Given the description of an element on the screen output the (x, y) to click on. 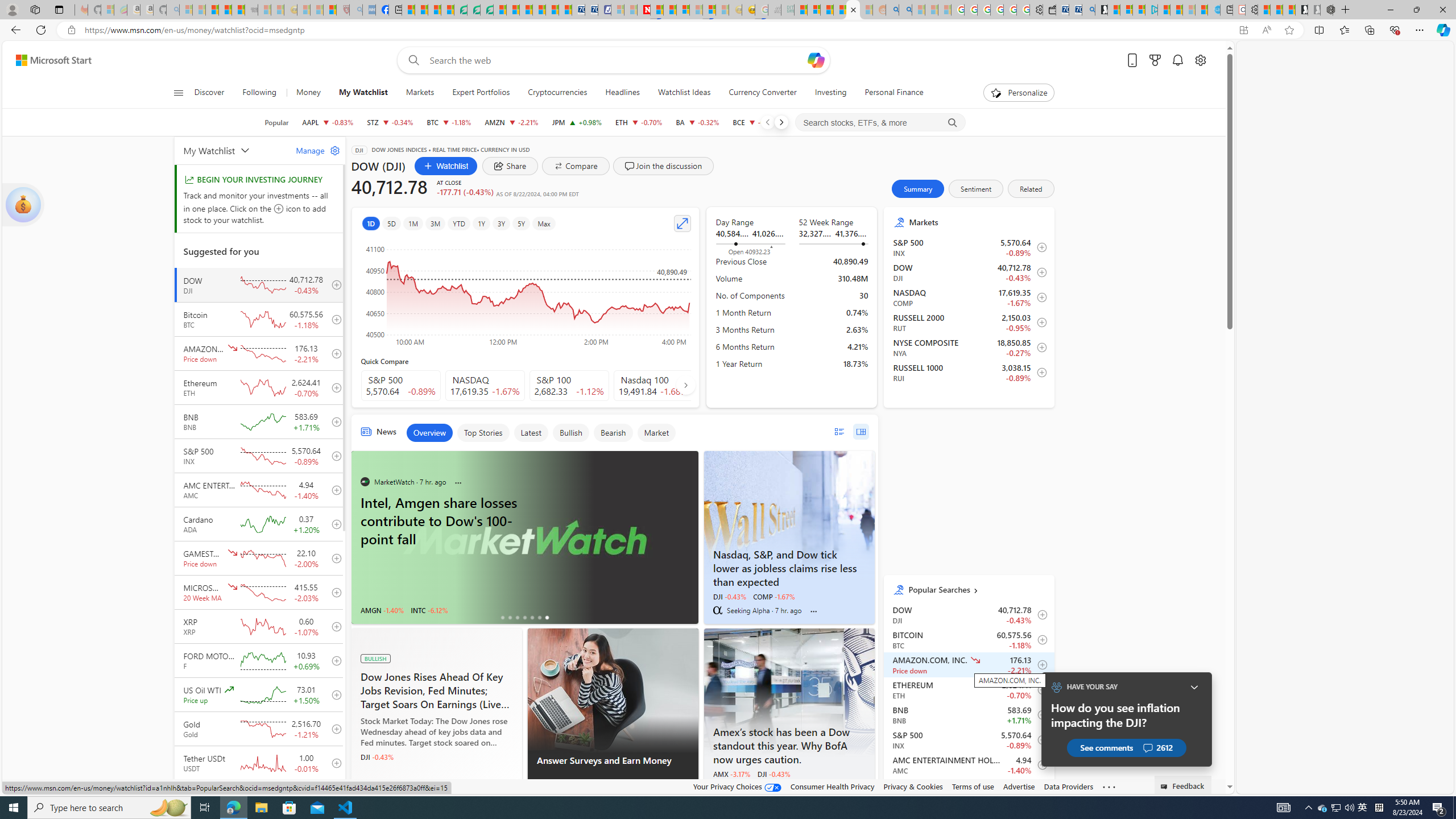
AdChoices (689, 789)
5D (390, 223)
My Watchlist (362, 92)
AMZN AMAZON.COM, INC. decrease 176.13 -3.98 -2.21% (511, 122)
Your Privacy Choices (737, 786)
Open navigation menu (177, 92)
